Given the description of an element on the screen output the (x, y) to click on. 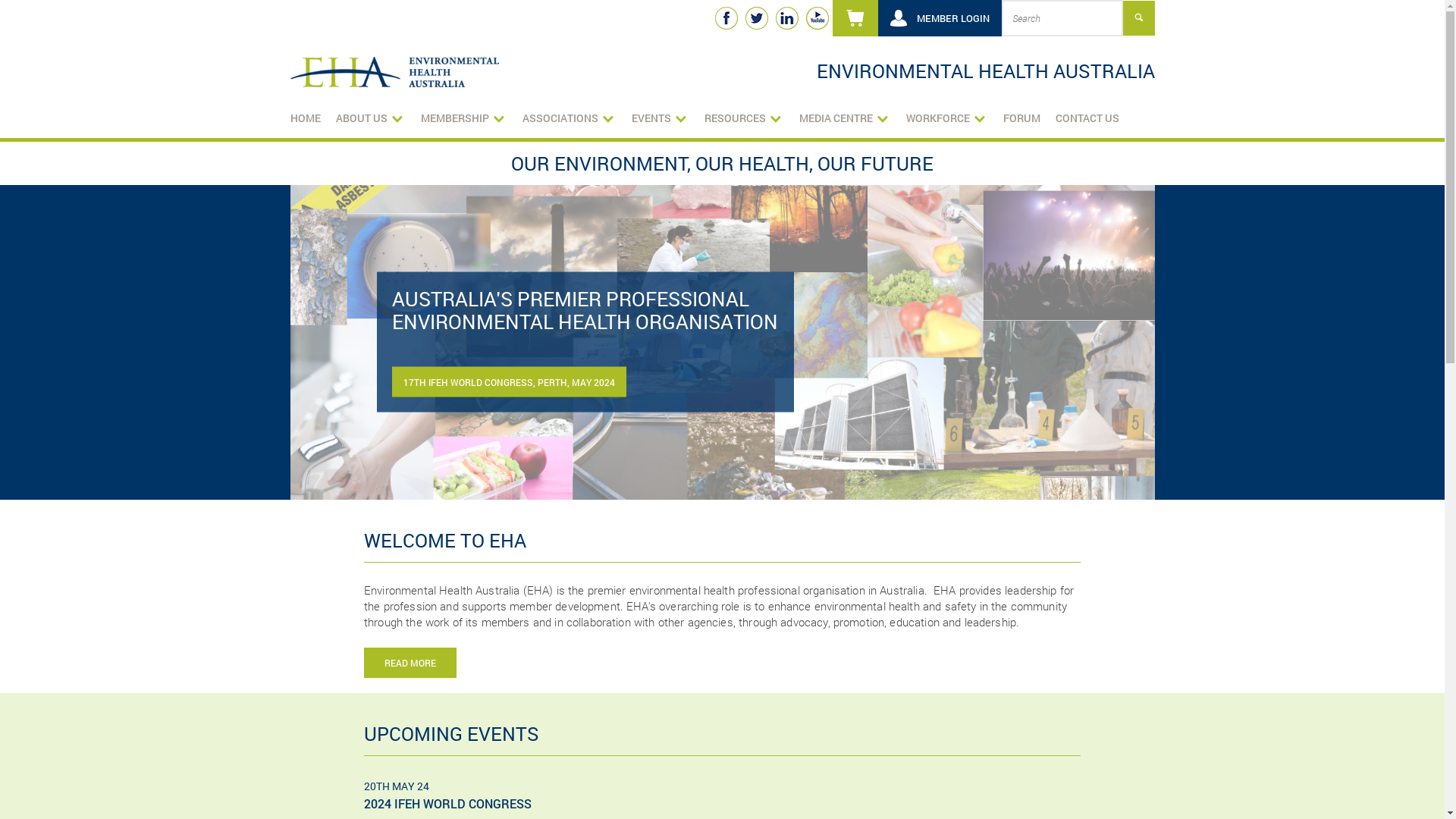
WORKFORCE Element type: text (946, 117)
LinkedIn Element type: hover (786, 17)
EVENTS Element type: text (659, 117)
MEDIA CENTRE Element type: text (845, 117)
ABOUT US Element type: text (369, 117)
YouTube Element type: hover (816, 17)
Twitter Element type: hover (755, 17)
ASSOCIATIONS Element type: text (568, 117)
READ MORE Element type: text (410, 662)
HOME Element type: text (304, 117)
Facebook Element type: hover (725, 17)
CONTACT US Element type: text (1087, 117)
17TH IFEH WORLD CONGRESS, PERTH, MAY 2024 Element type: text (508, 382)
RESOURCES Element type: text (743, 117)
FORUM Element type: text (1020, 117)
MEMBERSHIP Element type: text (463, 117)
MEMBER LOGIN Element type: text (939, 18)
